Given the description of an element on the screen output the (x, y) to click on. 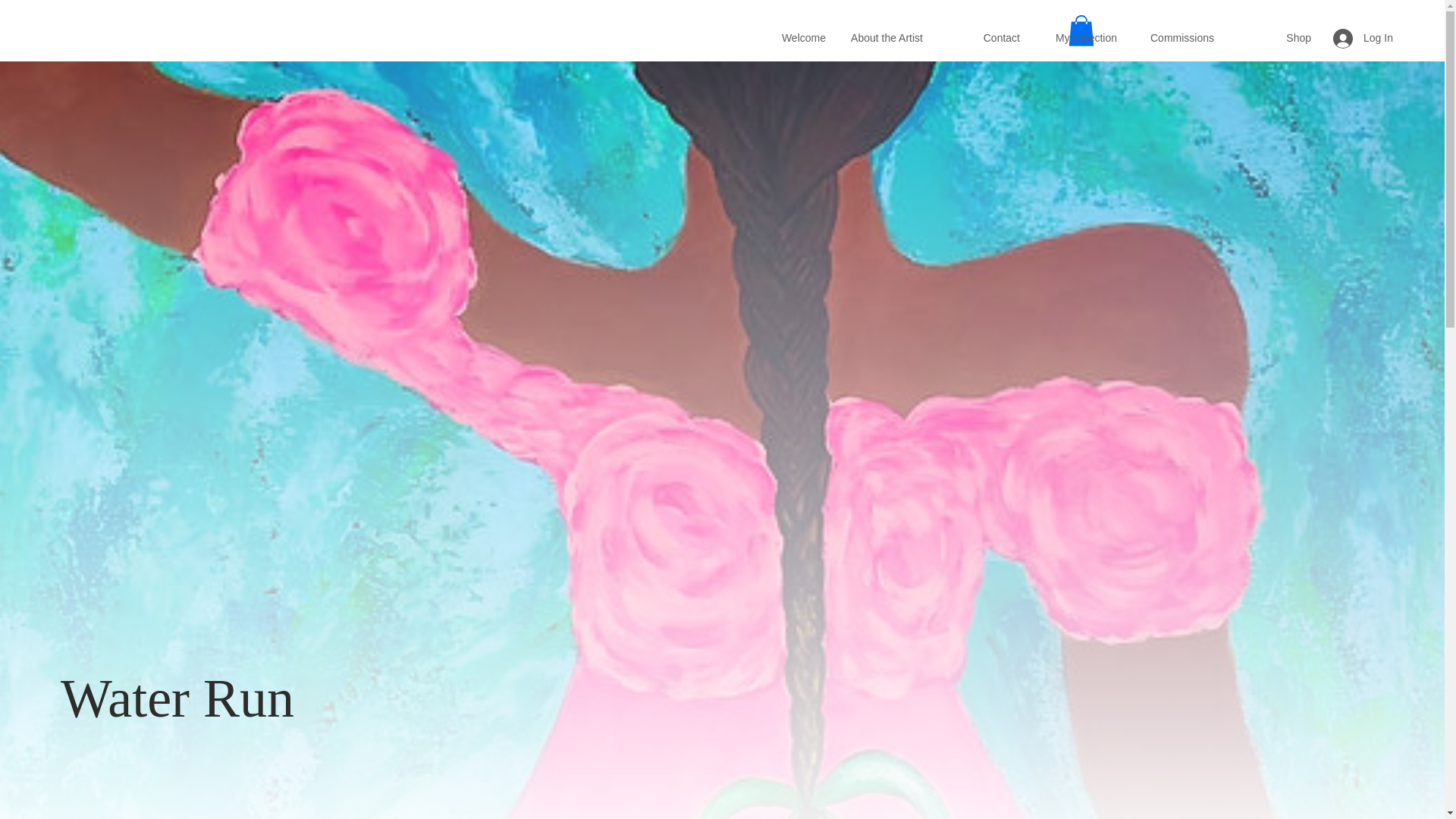
Commissions (1175, 37)
Contact (981, 37)
My collection (1077, 37)
Log In (1360, 38)
Welcome (786, 37)
About the Artist (884, 37)
